Given the description of an element on the screen output the (x, y) to click on. 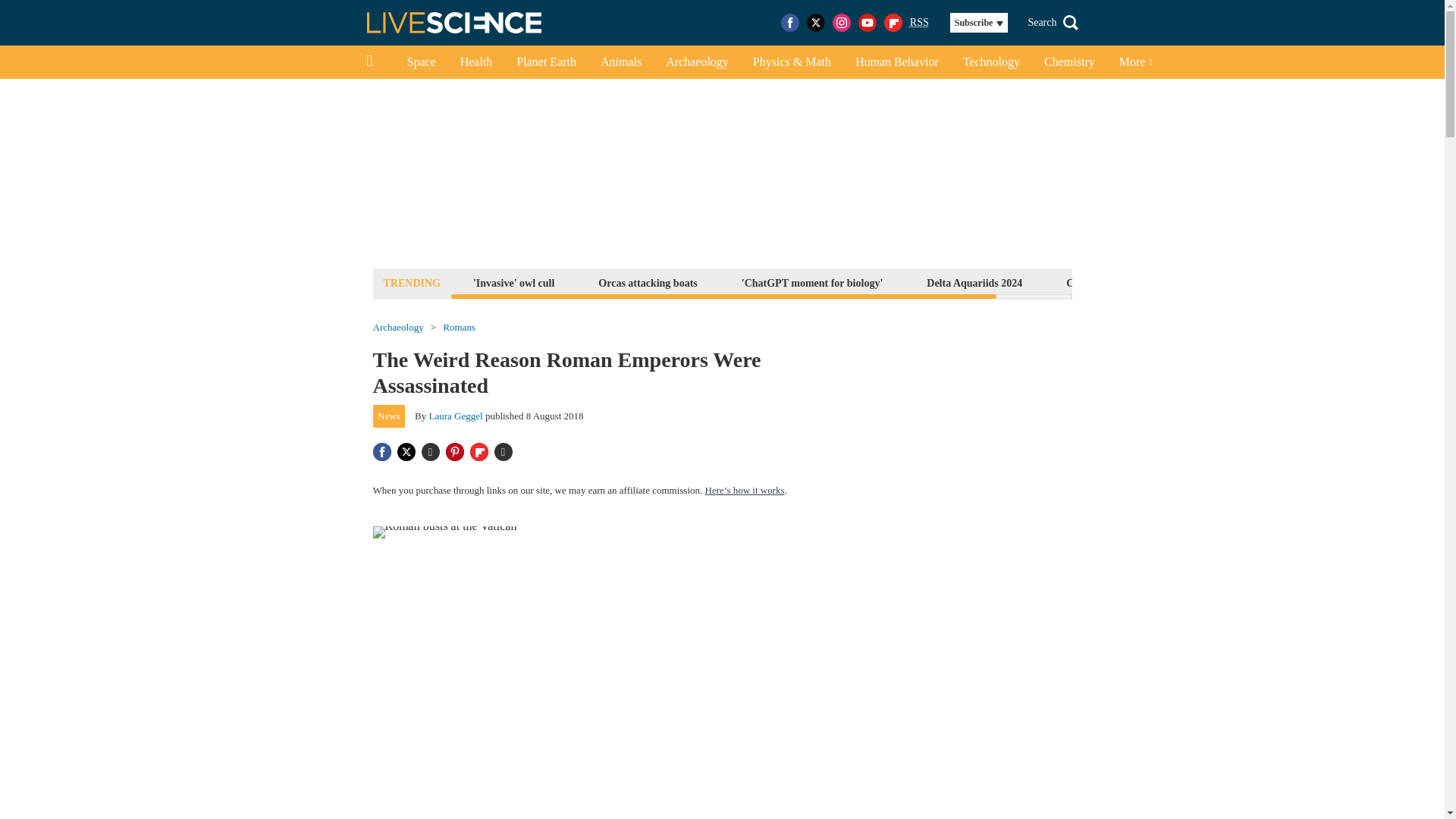
RSS (919, 22)
Archaeology (397, 327)
Orcas attacking boats (646, 282)
Romans (459, 327)
Planet Earth (545, 61)
Really Simple Syndication (919, 21)
Technology (991, 61)
Health (476, 61)
Delta Aquariids 2024 (974, 282)
Animals (620, 61)
News (389, 415)
'ChatGPT moment for biology' (812, 282)
Climate change (1101, 282)
Space (420, 61)
Chemistry (1069, 61)
